Given the description of an element on the screen output the (x, y) to click on. 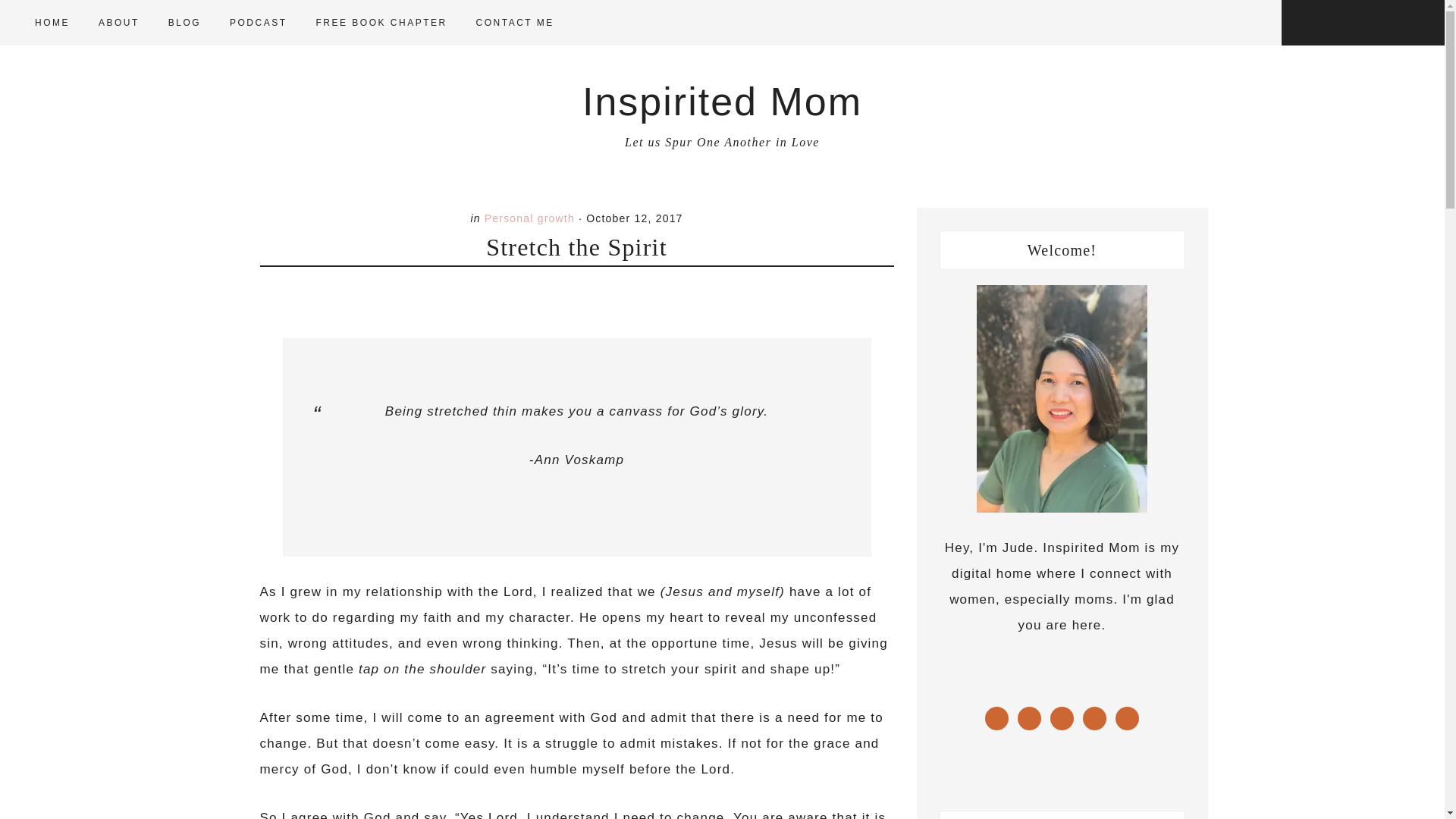
PODCAST (257, 22)
ABOUT (118, 22)
CONTACT ME (515, 22)
Personal growth (529, 218)
FREE BOOK CHAPTER (380, 22)
HOME (52, 22)
BLOG (183, 22)
Inspirited Mom (721, 101)
